Given the description of an element on the screen output the (x, y) to click on. 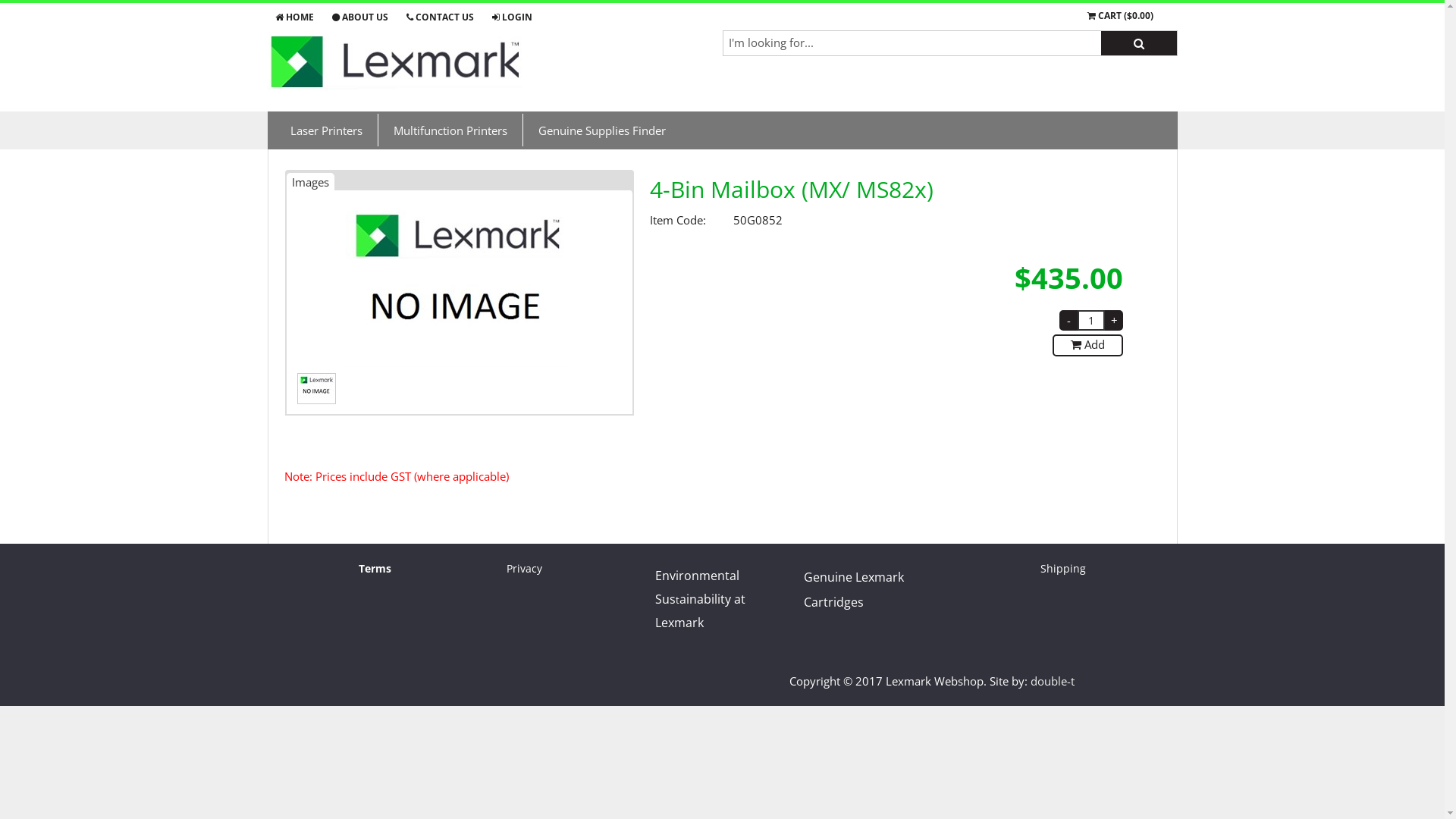
Genuine Supplies Finder Element type: text (600, 129)
4-Bin Mailbox (MX/MS82x) Element type: hover (459, 362)
LOGIN Element type: text (511, 16)
CONTACT US Element type: text (440, 16)
Privacy Element type: text (524, 568)
Laser Printers Element type: text (325, 129)
Environmental Sustainability at Lexmark Element type: text (700, 598)
+ Element type: text (1113, 320)
Shipping Element type: text (1062, 568)
CART ($0.00) Element type: text (1120, 14)
ABOUT US Element type: text (360, 16)
Show this Image Element type: hover (316, 386)
- Element type: text (1068, 320)
Decrease quantity Element type: hover (1068, 320)
Genuine Lexmark Cartridges Element type: text (853, 589)
Multifunction Printers Element type: text (449, 129)
Quantity to add to cart Element type: hover (1090, 320)
Images Element type: text (310, 180)
Add Element type: text (1087, 345)
Terms Element type: text (373, 568)
double-t Element type: text (1052, 680)
Click to Enlarge Element type: hover (459, 282)
HOME Element type: text (297, 16)
Increase quantity Element type: hover (1113, 320)
